Given the description of an element on the screen output the (x, y) to click on. 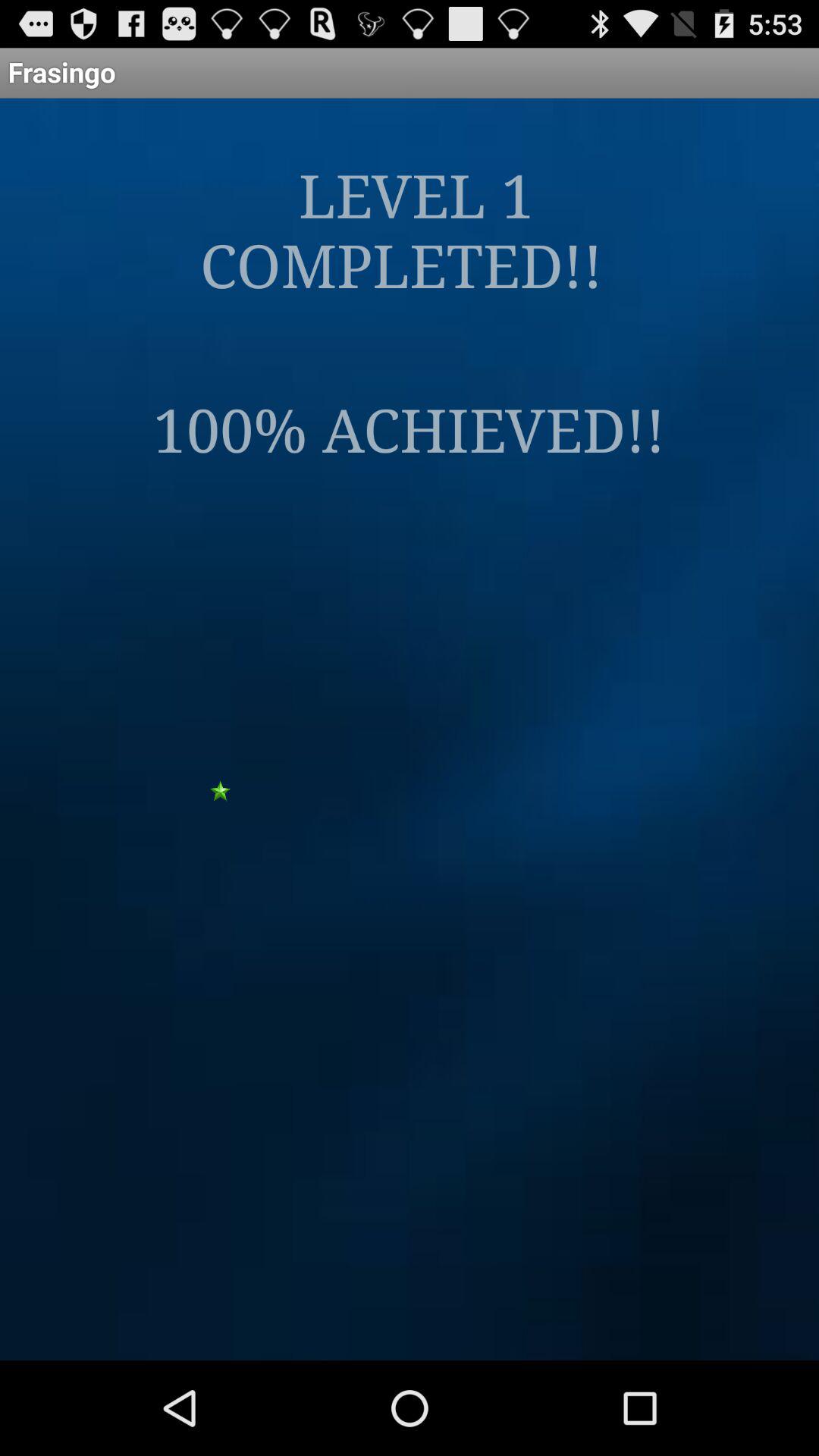
tap app below the frasingo icon (408, 228)
